Given the description of an element on the screen output the (x, y) to click on. 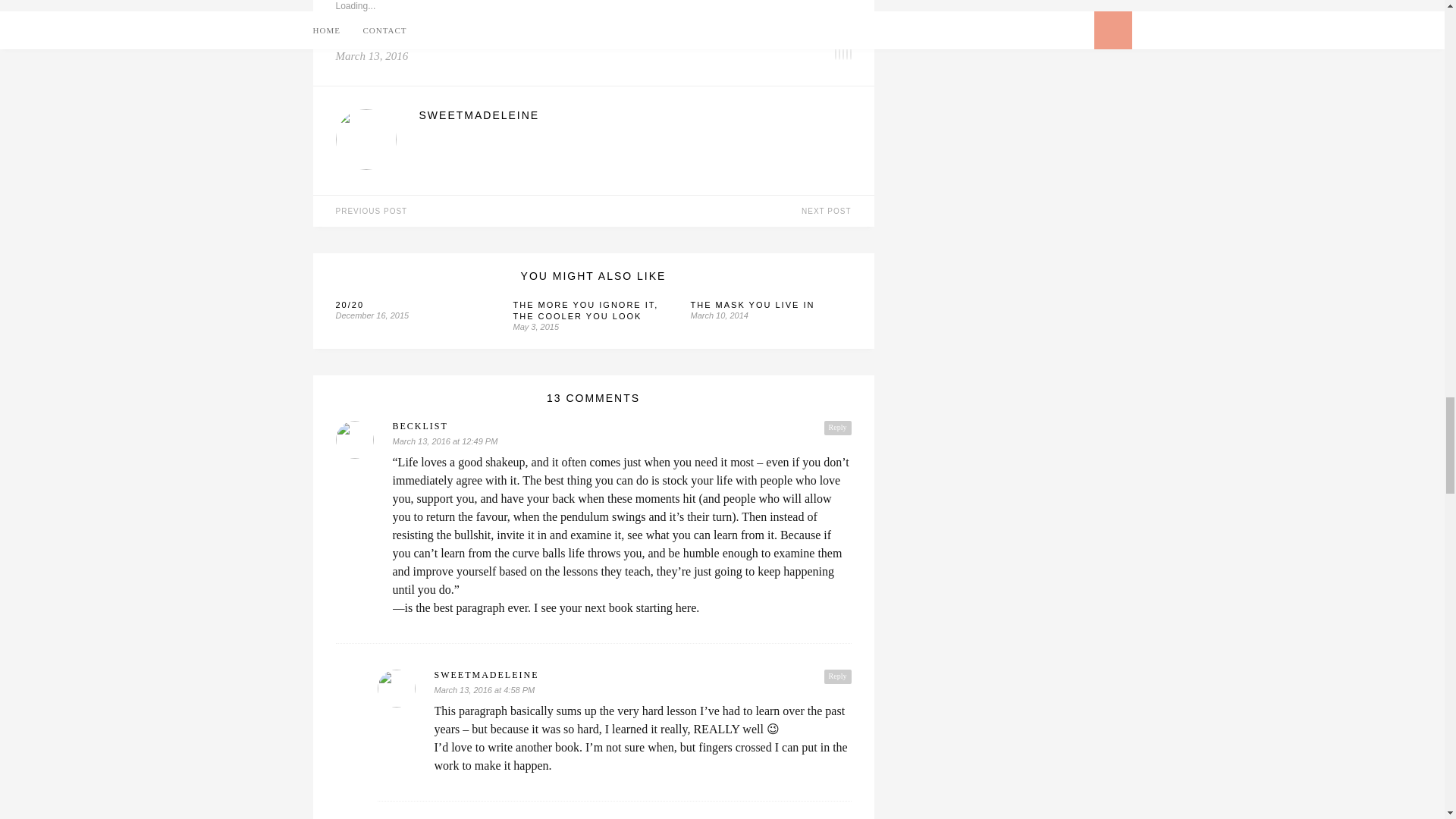
Reply (837, 676)
PREVIOUS POST (452, 210)
NEXT POST (732, 210)
SWEETMADELEINE (634, 114)
Posts by sweetmadeleine (634, 114)
THE MASK YOU LIVE IN (751, 304)
BECKLIST (622, 426)
Reply (837, 427)
THE MORE YOU IGNORE IT, THE COOLER YOU LOOK (585, 310)
